Given the description of an element on the screen output the (x, y) to click on. 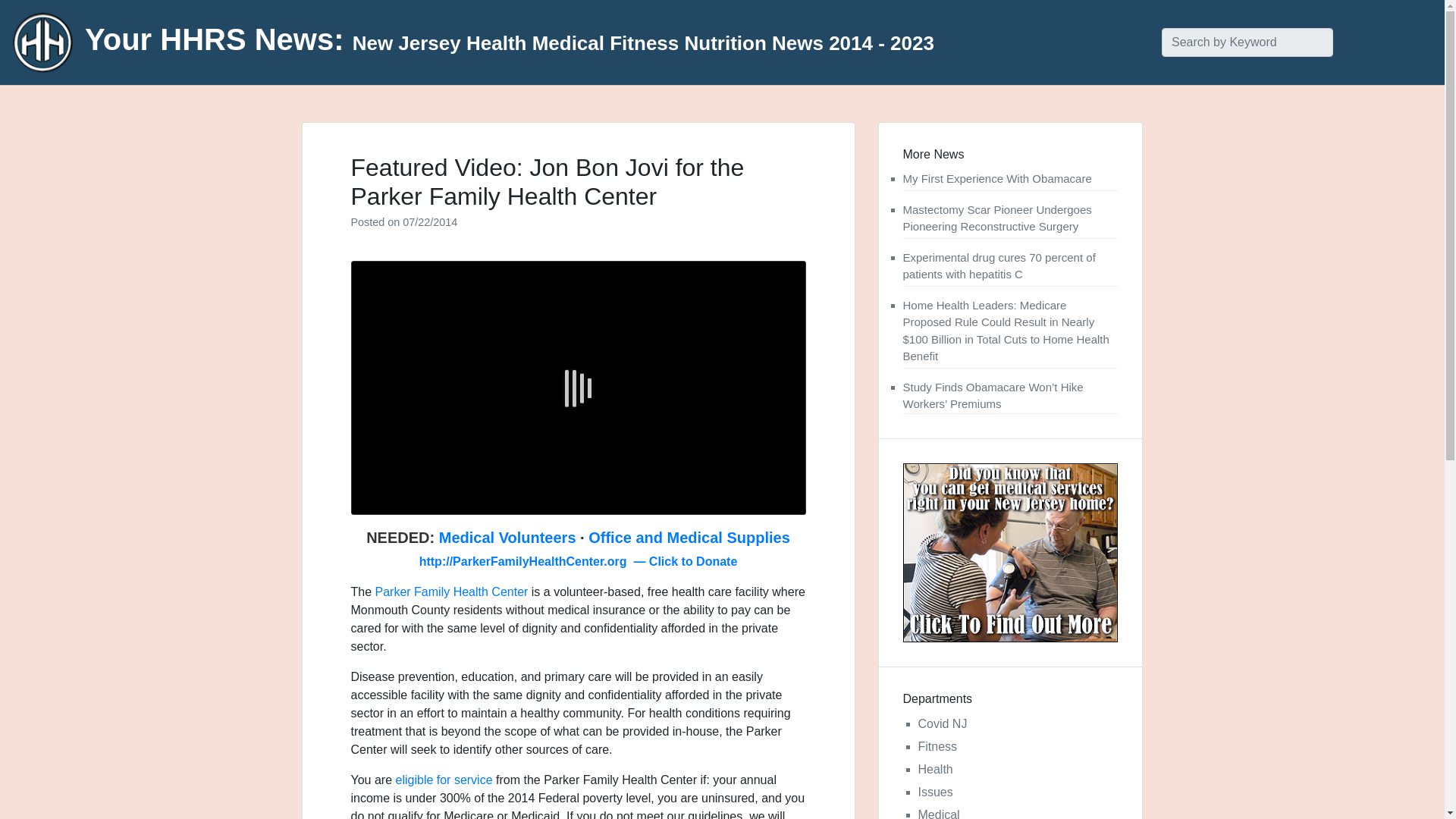
Fitness (936, 746)
Issues (934, 791)
Office and Medical Supplies (689, 537)
Medical (938, 813)
eligible for service (444, 779)
Parker Family Health Center (451, 591)
Covid NJ (941, 723)
Click to Donate (692, 561)
